Given the description of an element on the screen output the (x, y) to click on. 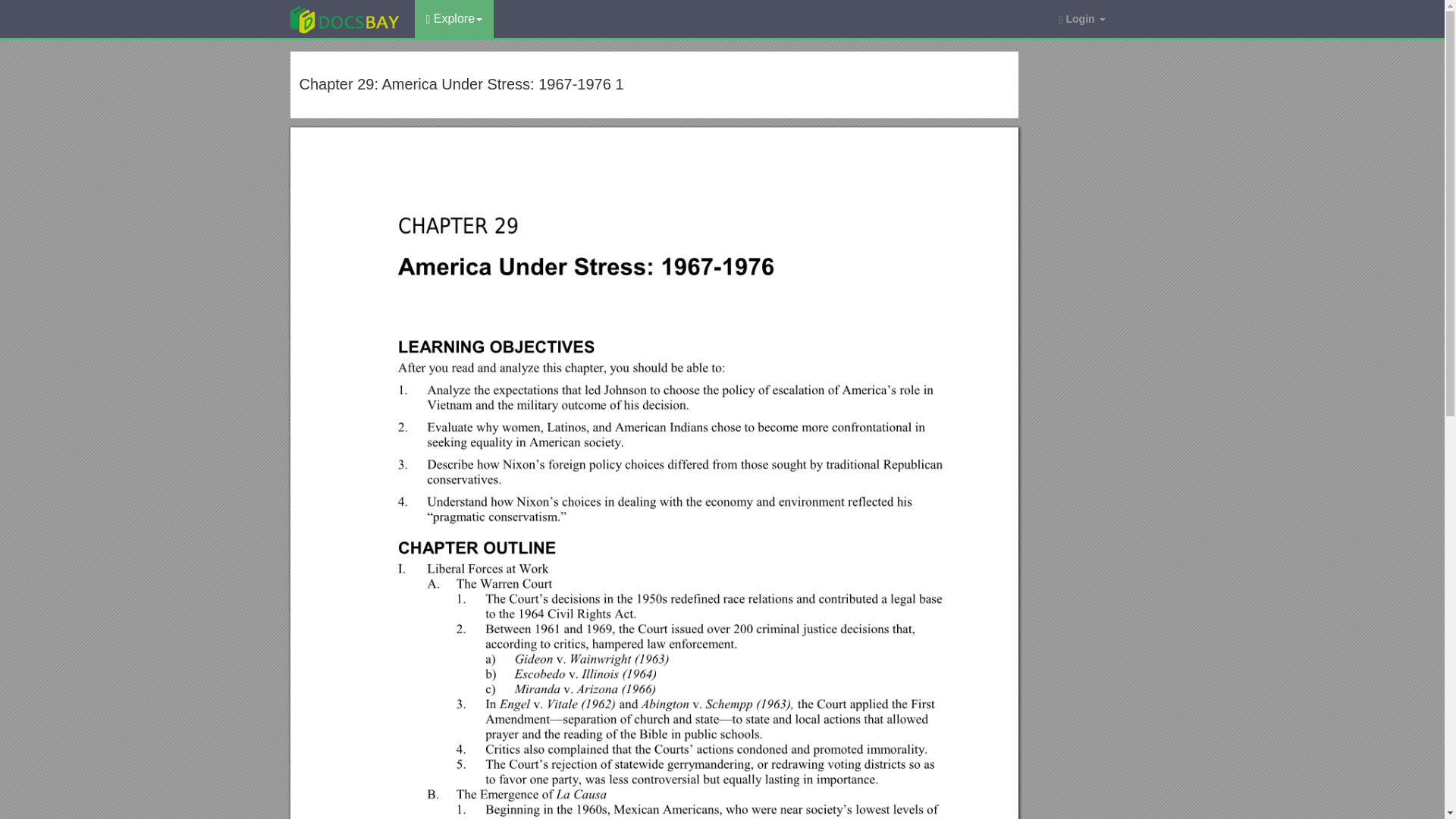
Login (1081, 18)
Explore (453, 18)
